Given the description of an element on the screen output the (x, y) to click on. 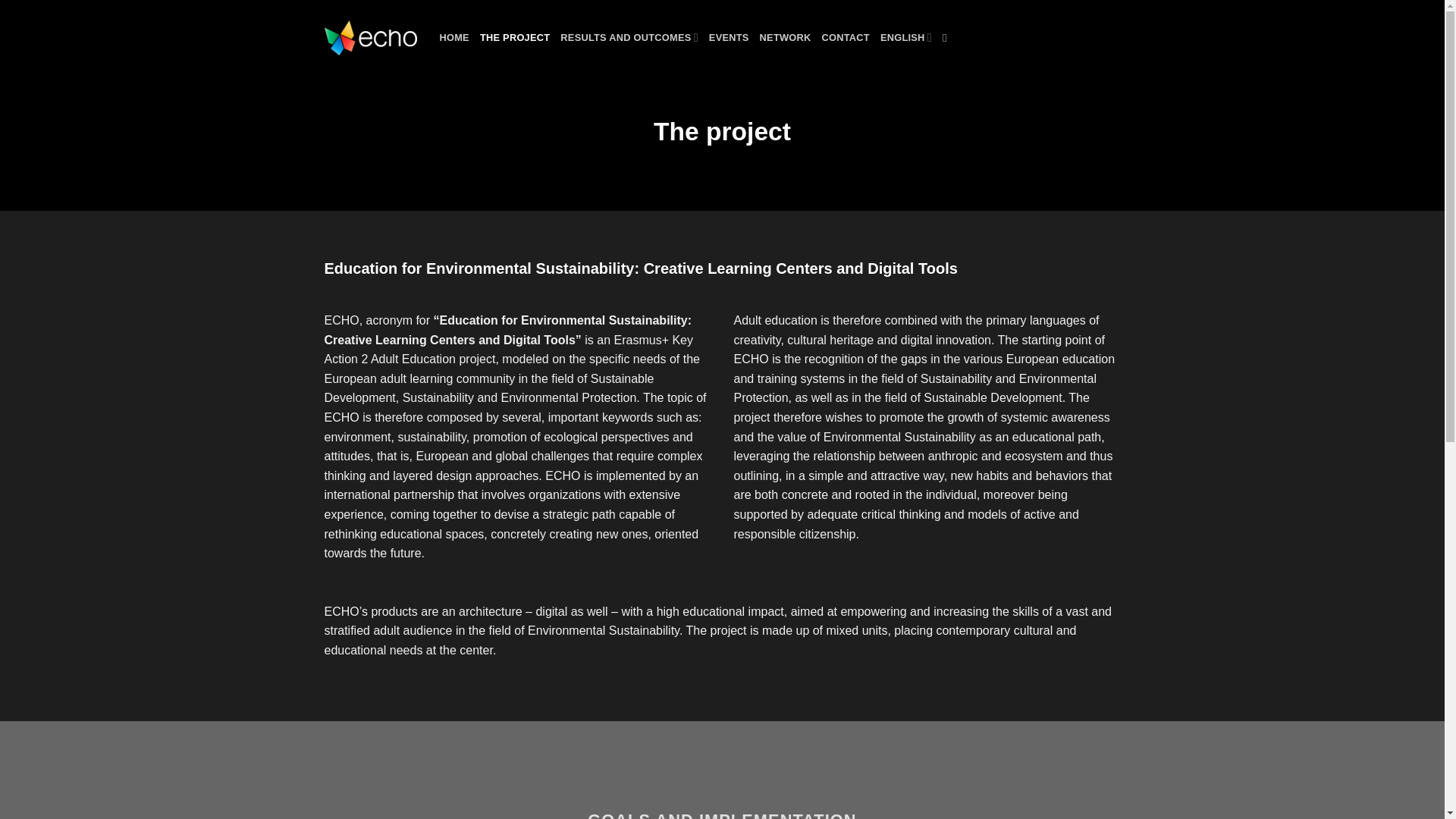
THE PROJECT (515, 37)
HOME (453, 37)
RESULTS AND OUTCOMES (629, 37)
CONTACT (845, 37)
NETWORK (785, 37)
EVENTS (729, 37)
English (905, 37)
ENGLISH (905, 37)
Echo Education (370, 38)
